Given the description of an element on the screen output the (x, y) to click on. 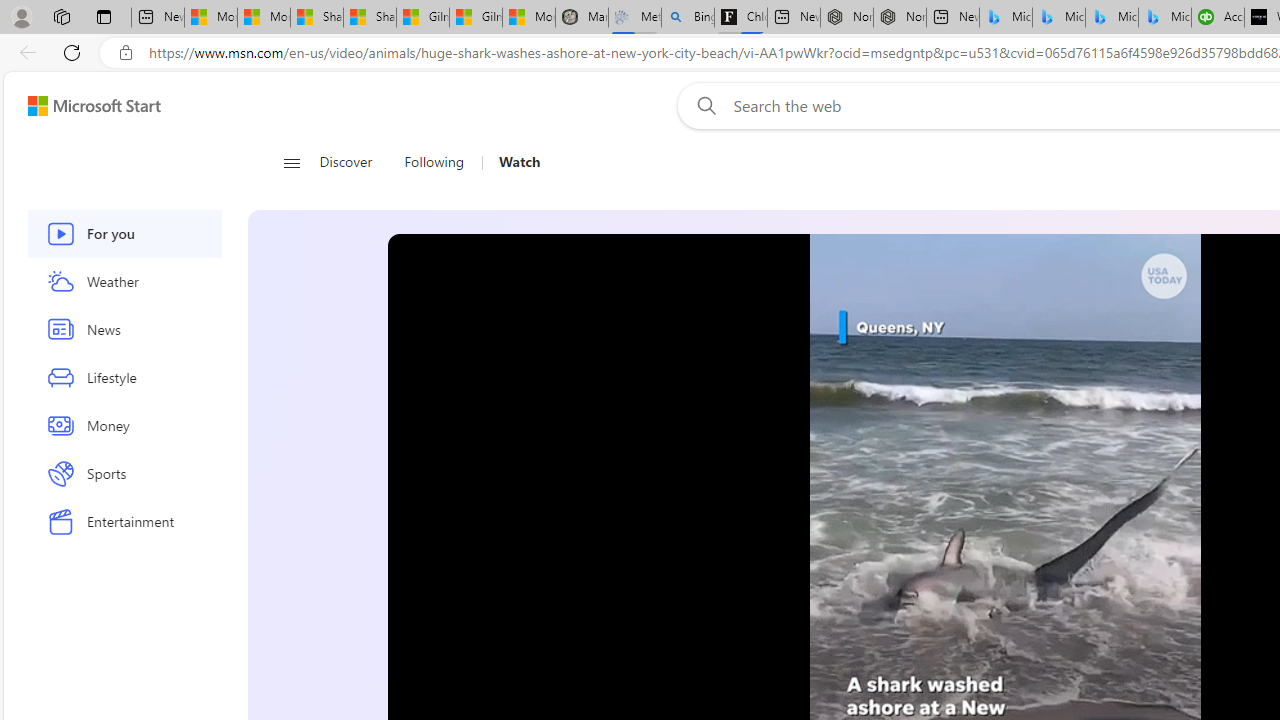
Bing Real Estate - Home sales and rental listings (687, 17)
Microsoft Bing Travel - Shangri-La Hotel Bangkok (1165, 17)
Shanghai, China weather forecast | Microsoft Weather (369, 17)
Gilma and Hector both pose tropical trouble for Hawaii (475, 17)
Chloe Sorvino (740, 17)
Manatee Mortality Statistics | FWC (581, 17)
Nordace - #1 Japanese Best-Seller - Siena Smart Backpack (899, 17)
Watch (519, 162)
Class: button-glyph (290, 162)
